Given the description of an element on the screen output the (x, y) to click on. 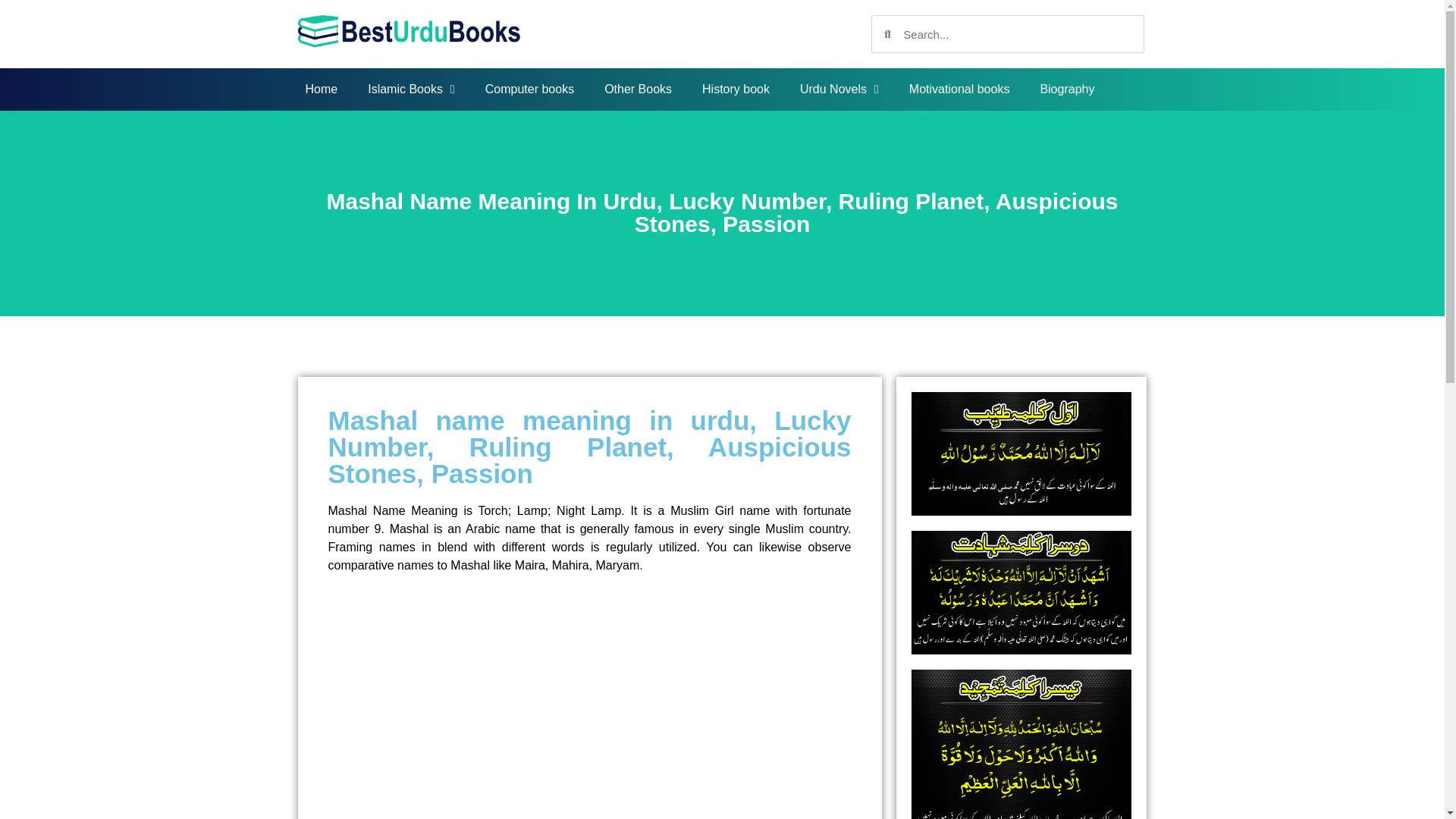
Computer books (529, 89)
Urdu Novels (838, 89)
Home (320, 89)
Biography (1067, 89)
Advertisement (588, 691)
History book (735, 89)
Motivational books (959, 89)
Other Books (638, 89)
Search (1016, 33)
Islamic Books (411, 89)
